Given the description of an element on the screen output the (x, y) to click on. 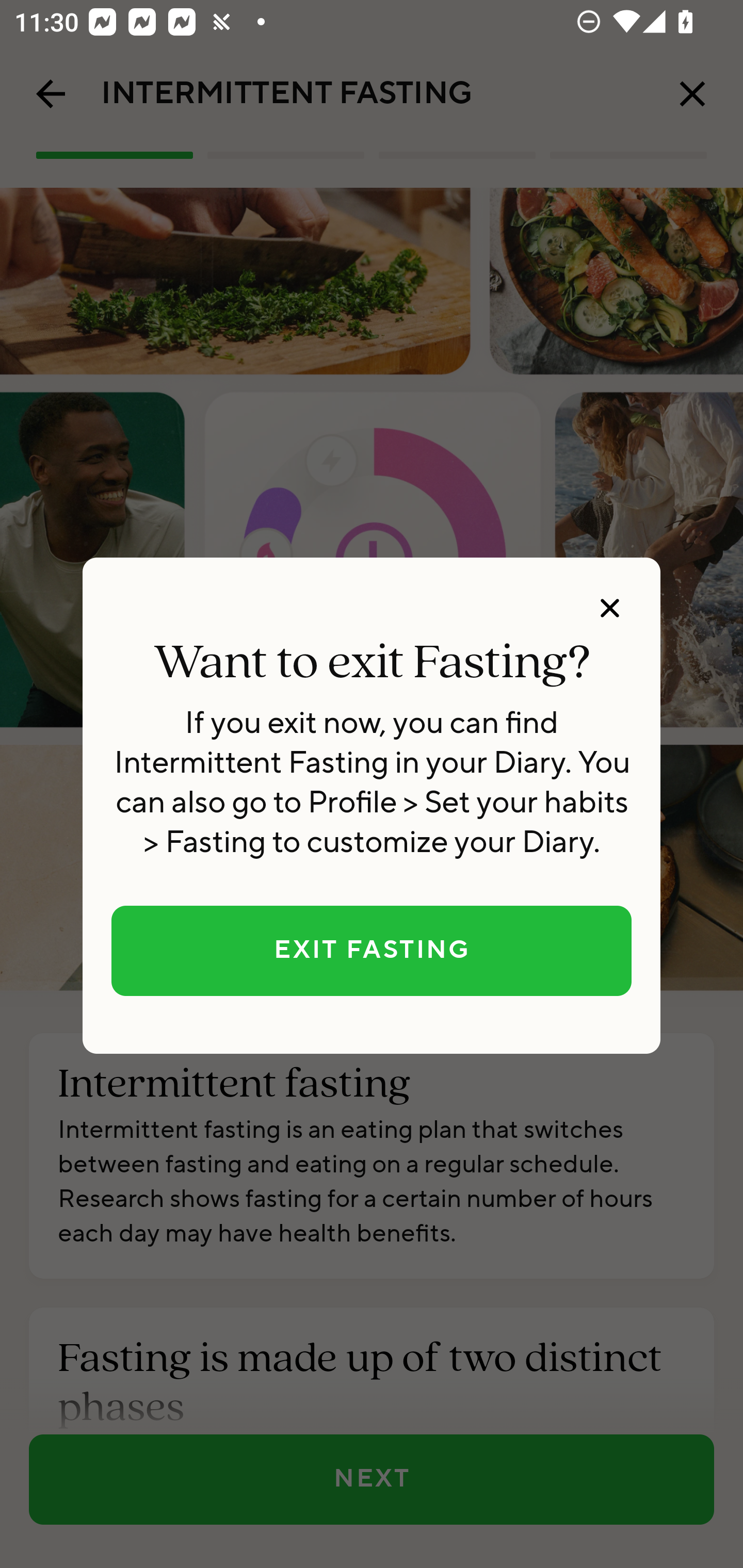
Dismiss (609, 607)
EXIT FASTING (371, 950)
